Given the description of an element on the screen output the (x, y) to click on. 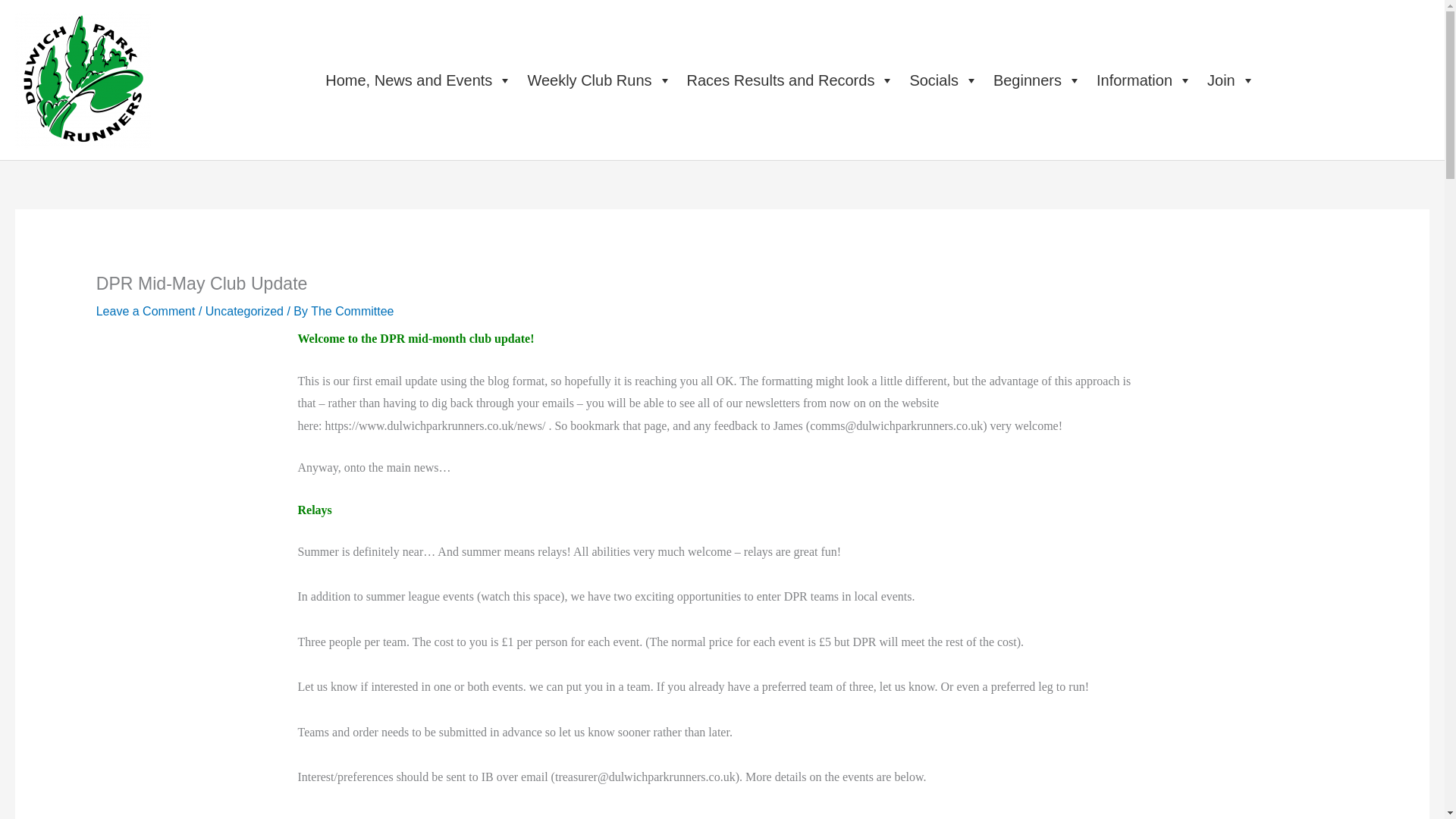
Information (1144, 80)
Home, News and Events (418, 80)
Socials (943, 80)
View all posts by The Committee (352, 310)
Races Results and Records (790, 80)
Weekly Club Runs (598, 80)
Beginners (1037, 80)
